Given the description of an element on the screen output the (x, y) to click on. 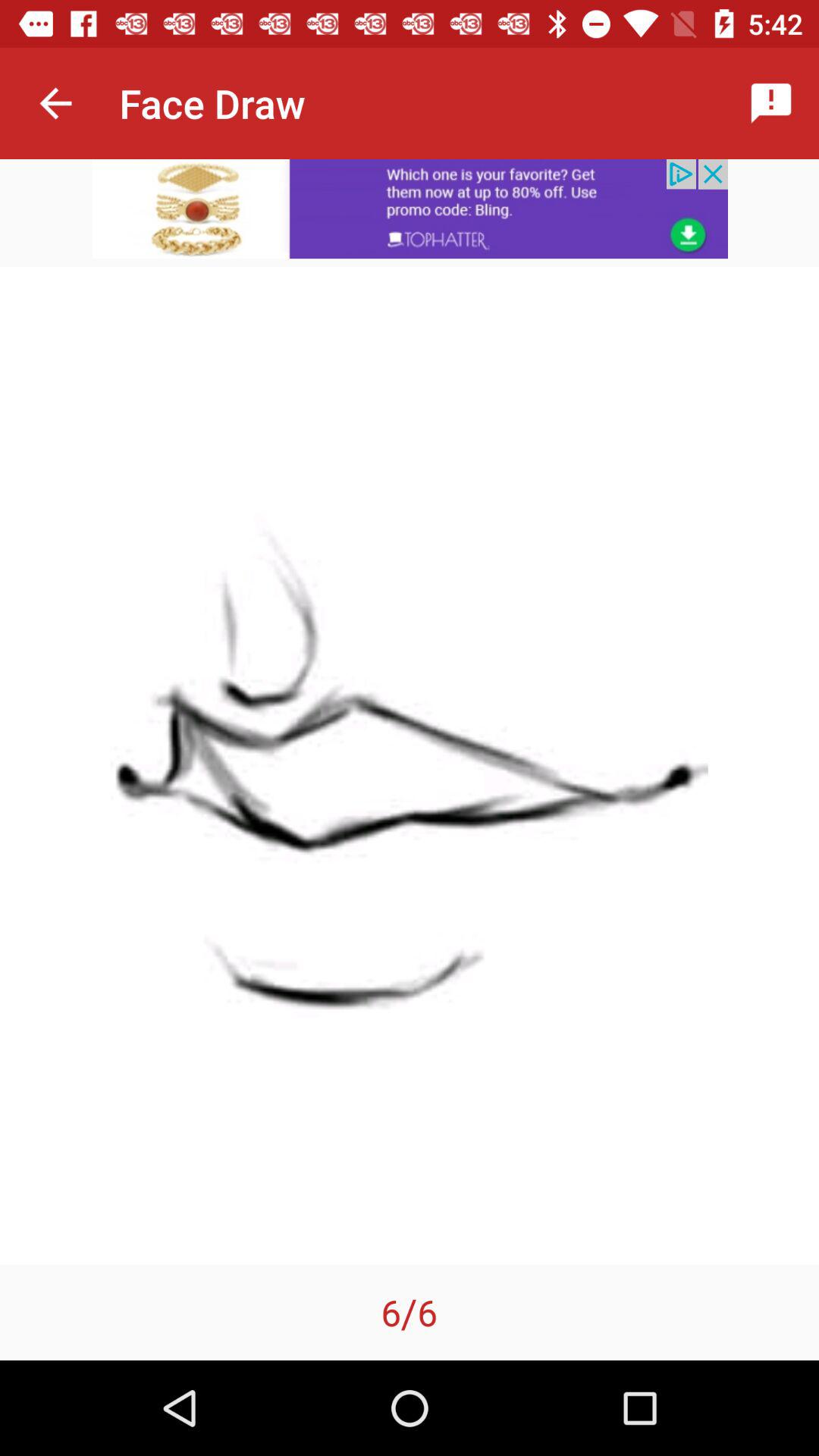
click for advertisement (409, 208)
